Given the description of an element on the screen output the (x, y) to click on. 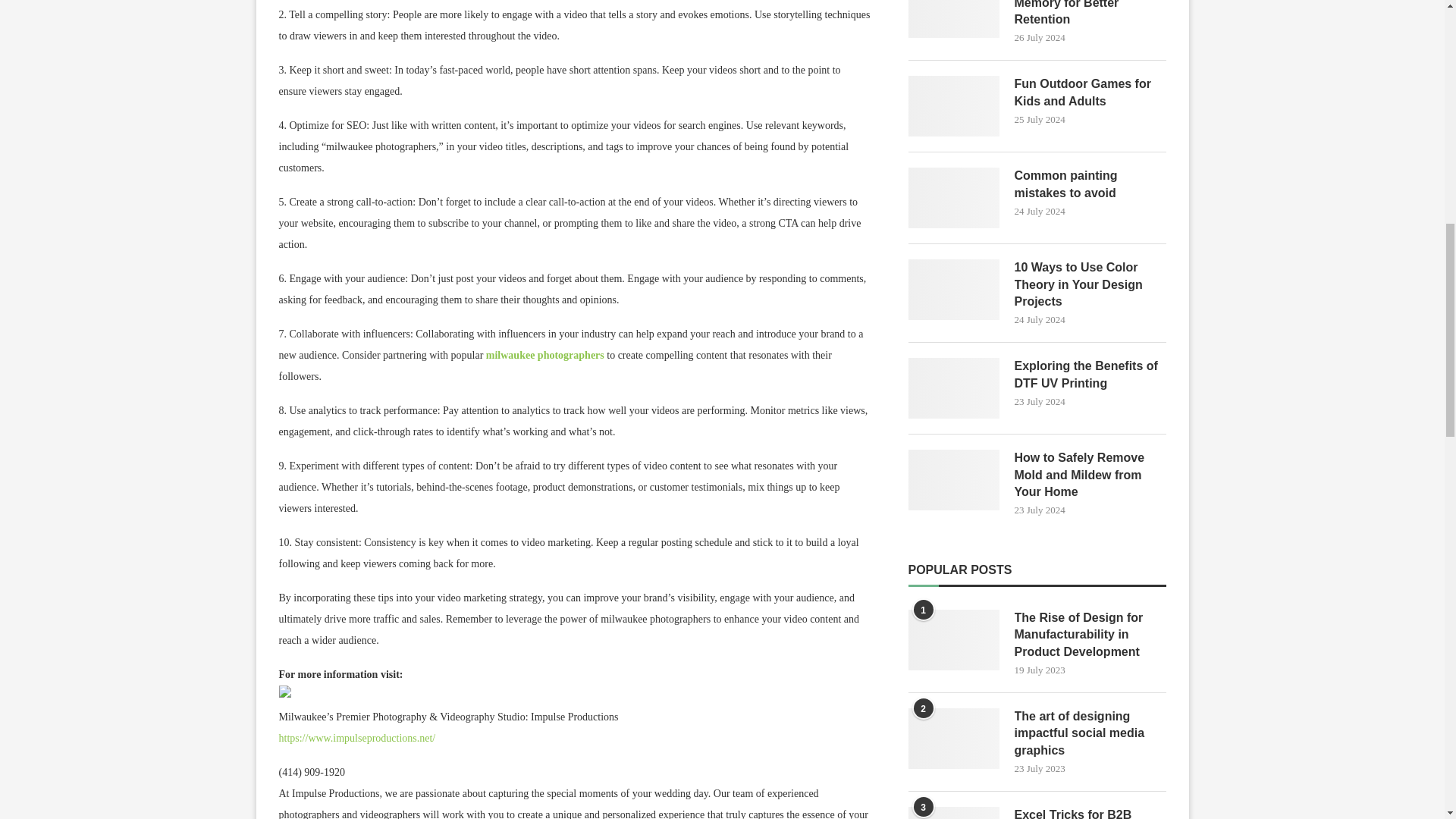
milwaukee photographers (545, 355)
